Given the description of an element on the screen output the (x, y) to click on. 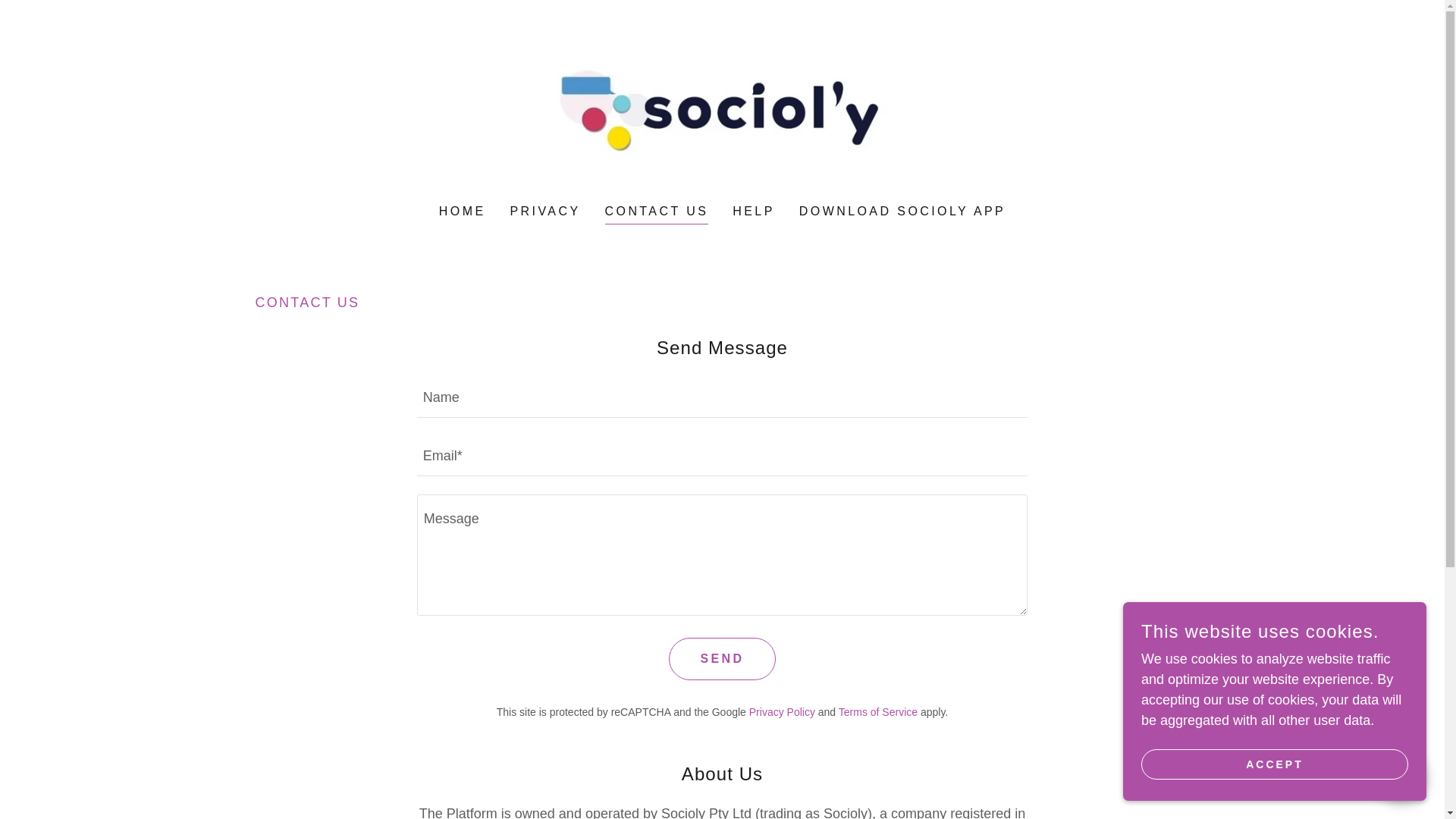
Socioly App  (721, 111)
SEND (721, 659)
ACCEPT (1274, 764)
Privacy Policy (782, 711)
CONTACT US (657, 213)
HOME (461, 211)
PRIVACY (545, 211)
Terms of Service (877, 711)
HELP (753, 211)
DOWNLOAD SOCIOLY APP (902, 211)
